Given the description of an element on the screen output the (x, y) to click on. 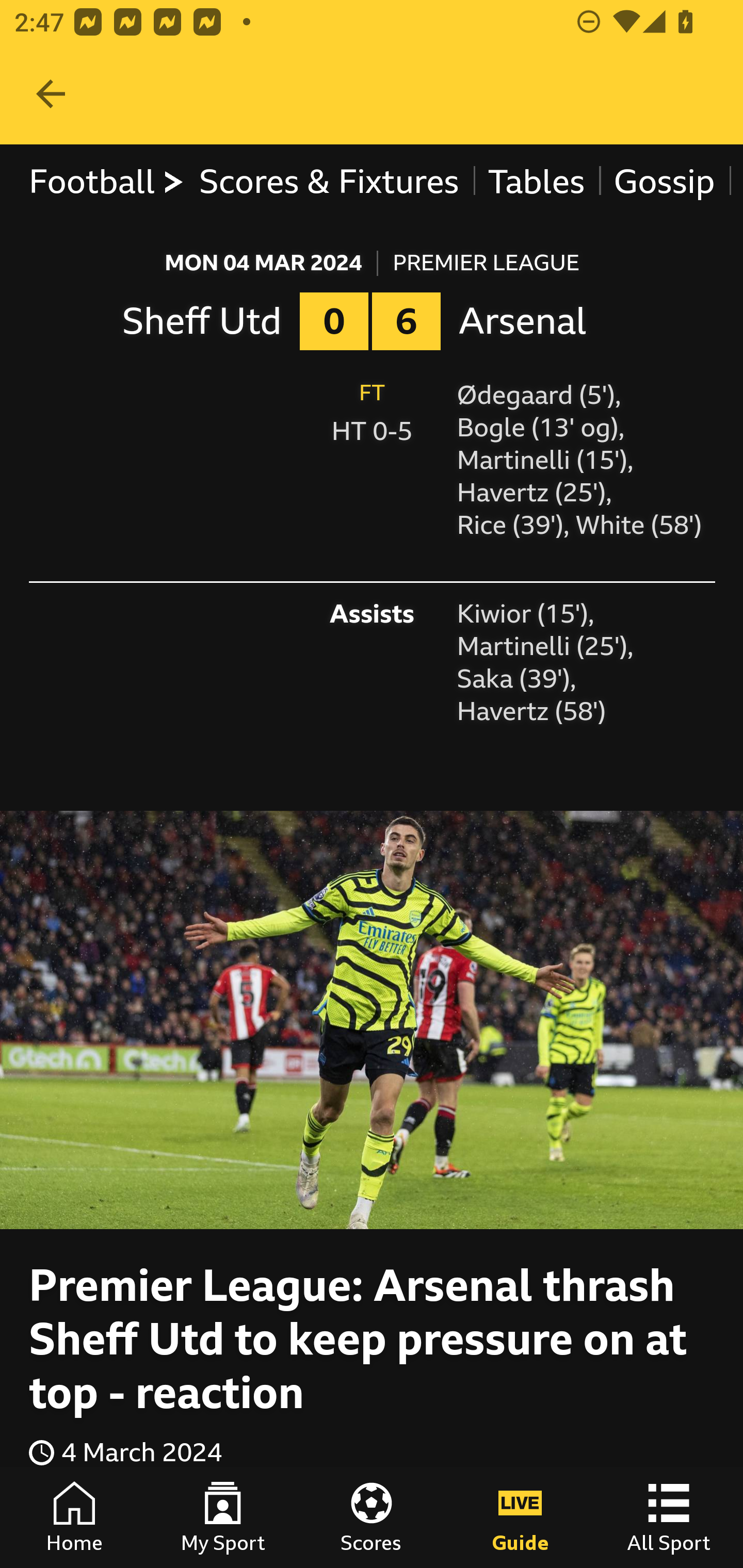
Navigate up (50, 93)
Football  (106, 181)
Scores & Fixtures (329, 181)
Tables (536, 181)
Gossip (664, 181)
Home (74, 1517)
My Sport (222, 1517)
Scores (371, 1517)
All Sport (668, 1517)
